Given the description of an element on the screen output the (x, y) to click on. 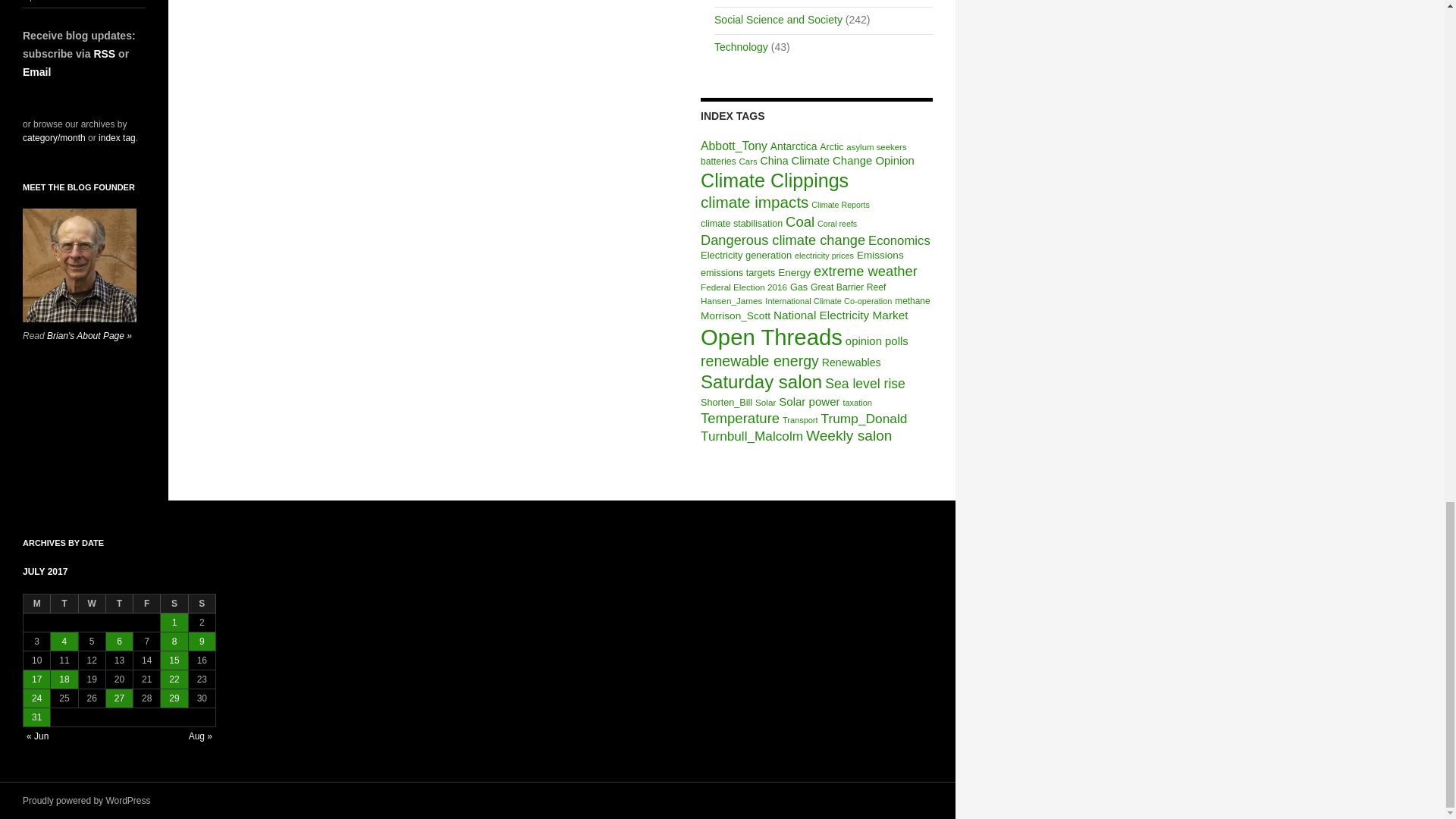
Really Simple Syndication (104, 53)
Thursday (119, 603)
Monday (36, 603)
Saturday (173, 603)
Sunday (202, 603)
Brian Bahnisch (79, 265)
Go to sign-up form (36, 71)
Friday (146, 603)
Tuesday (64, 603)
Wednesday (92, 603)
